Given the description of an element on the screen output the (x, y) to click on. 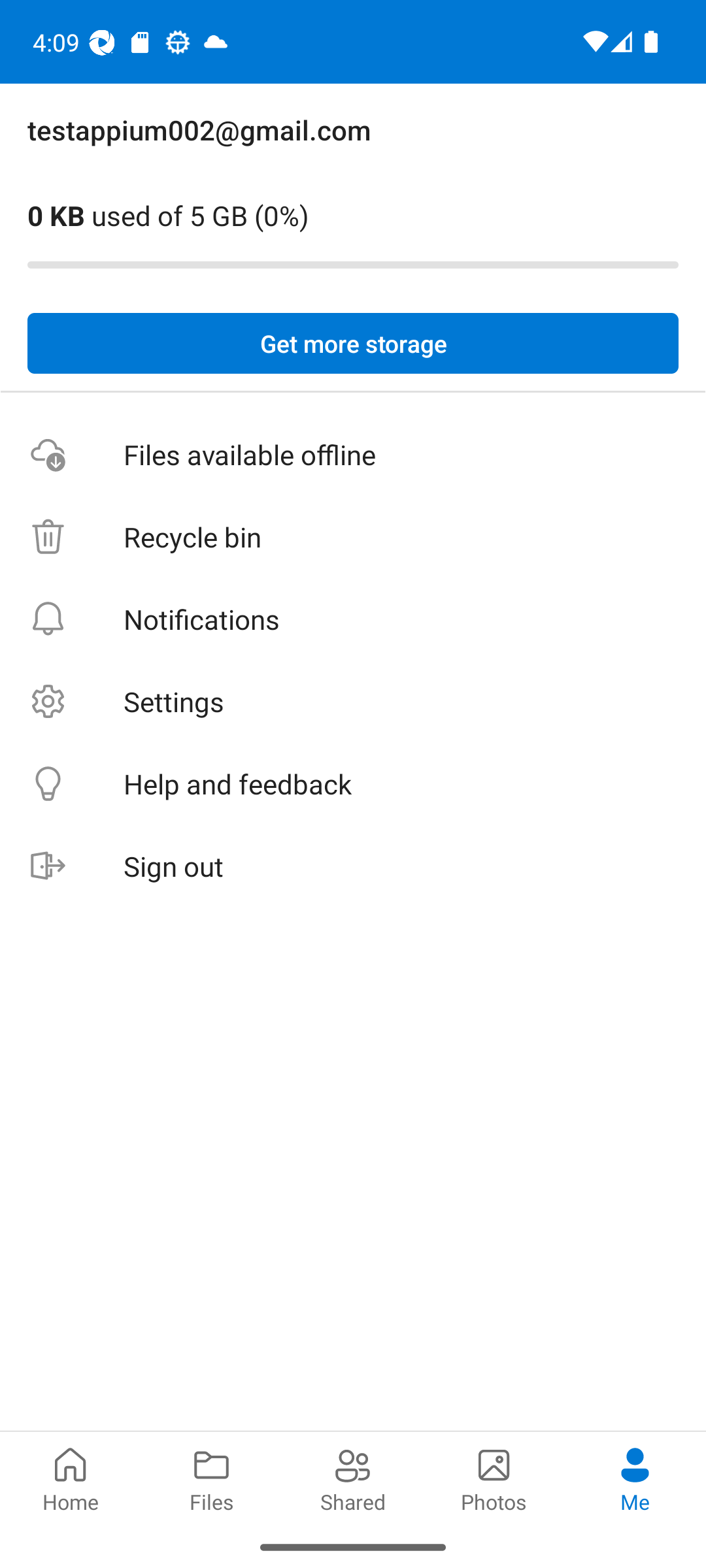
Get more storage (352, 343)
Files available offline (353, 454)
Recycle bin (353, 536)
Notifications (353, 619)
Settings (353, 701)
Help and feedback (353, 783)
Sign out (353, 865)
Home pivot Home (70, 1478)
Files pivot Files (211, 1478)
Shared pivot Shared (352, 1478)
Photos pivot Photos (493, 1478)
